Given the description of an element on the screen output the (x, y) to click on. 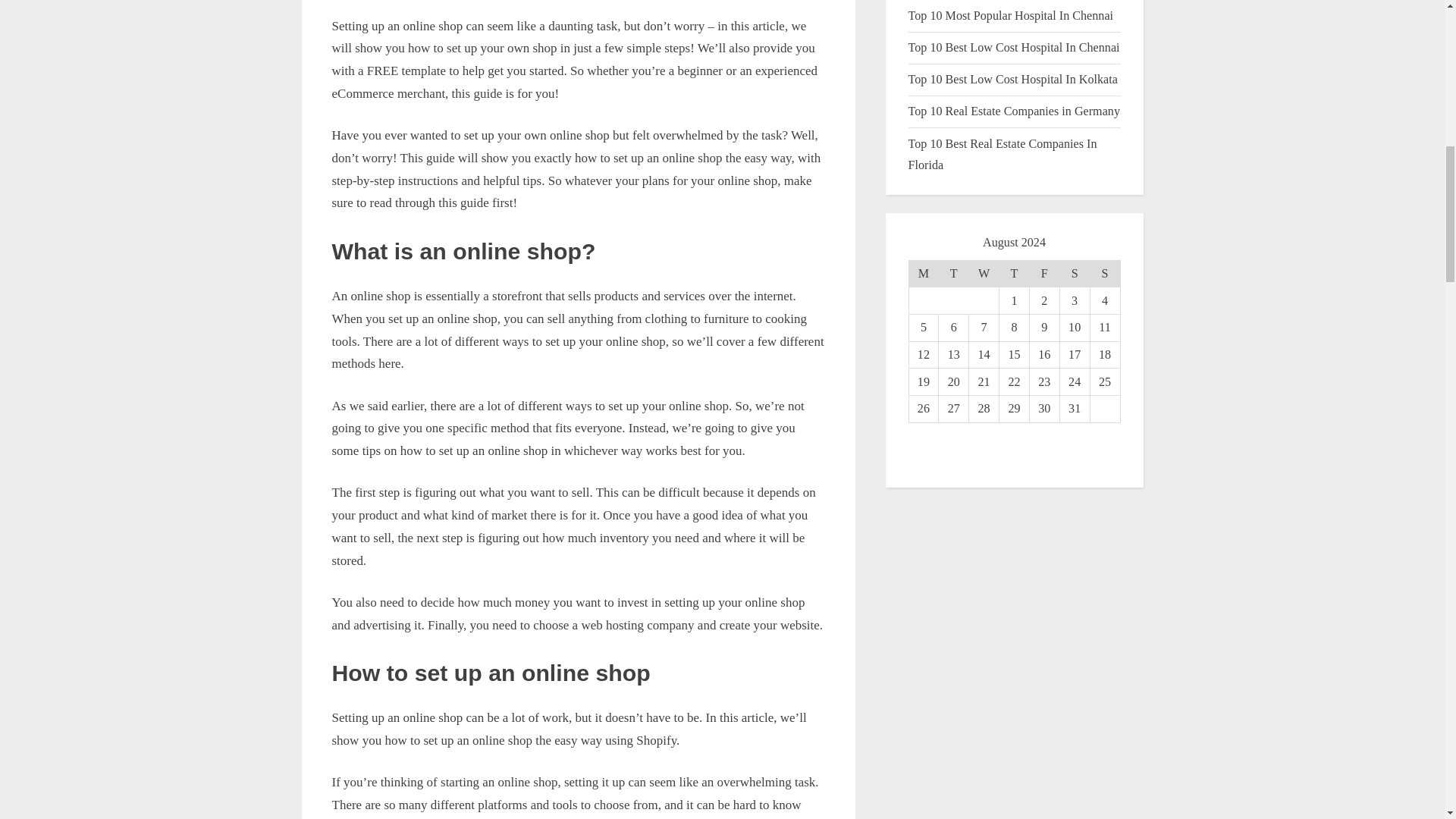
Thursday (1013, 273)
Top 10 Most Popular Hospital In Chennai (1010, 15)
Top 10 Best Low Cost Hospital In Kolkata (1013, 78)
Friday (1044, 273)
Wednesday (983, 273)
Top 10 Real Estate Companies in Germany (1013, 110)
Saturday (1074, 273)
Sunday (1104, 273)
Tuesday (954, 273)
Top 10 Best Low Cost Hospital In Chennai (1013, 47)
Monday (923, 273)
